Given the description of an element on the screen output the (x, y) to click on. 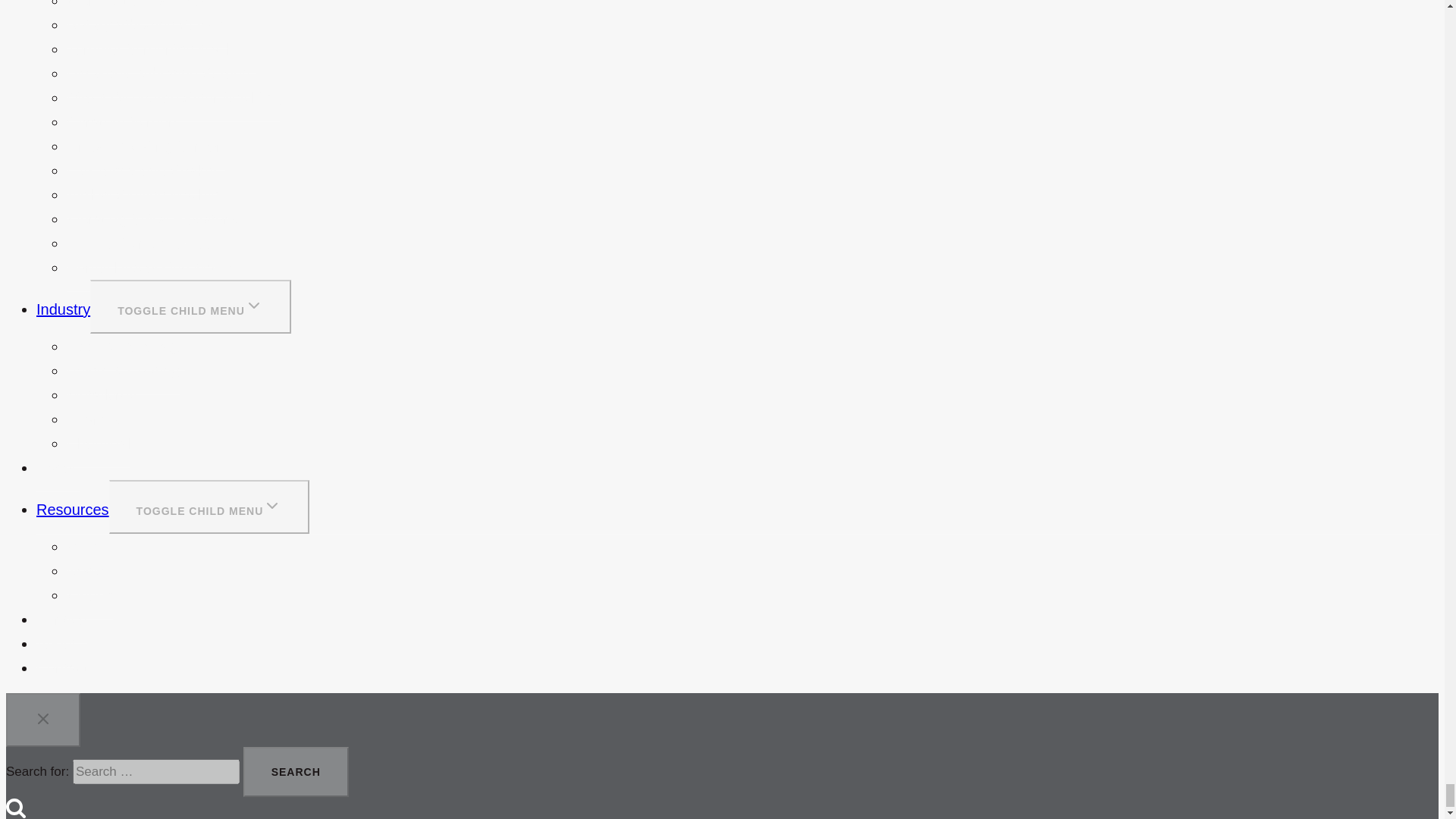
Search (296, 771)
Search (296, 771)
